Given the description of an element on the screen output the (x, y) to click on. 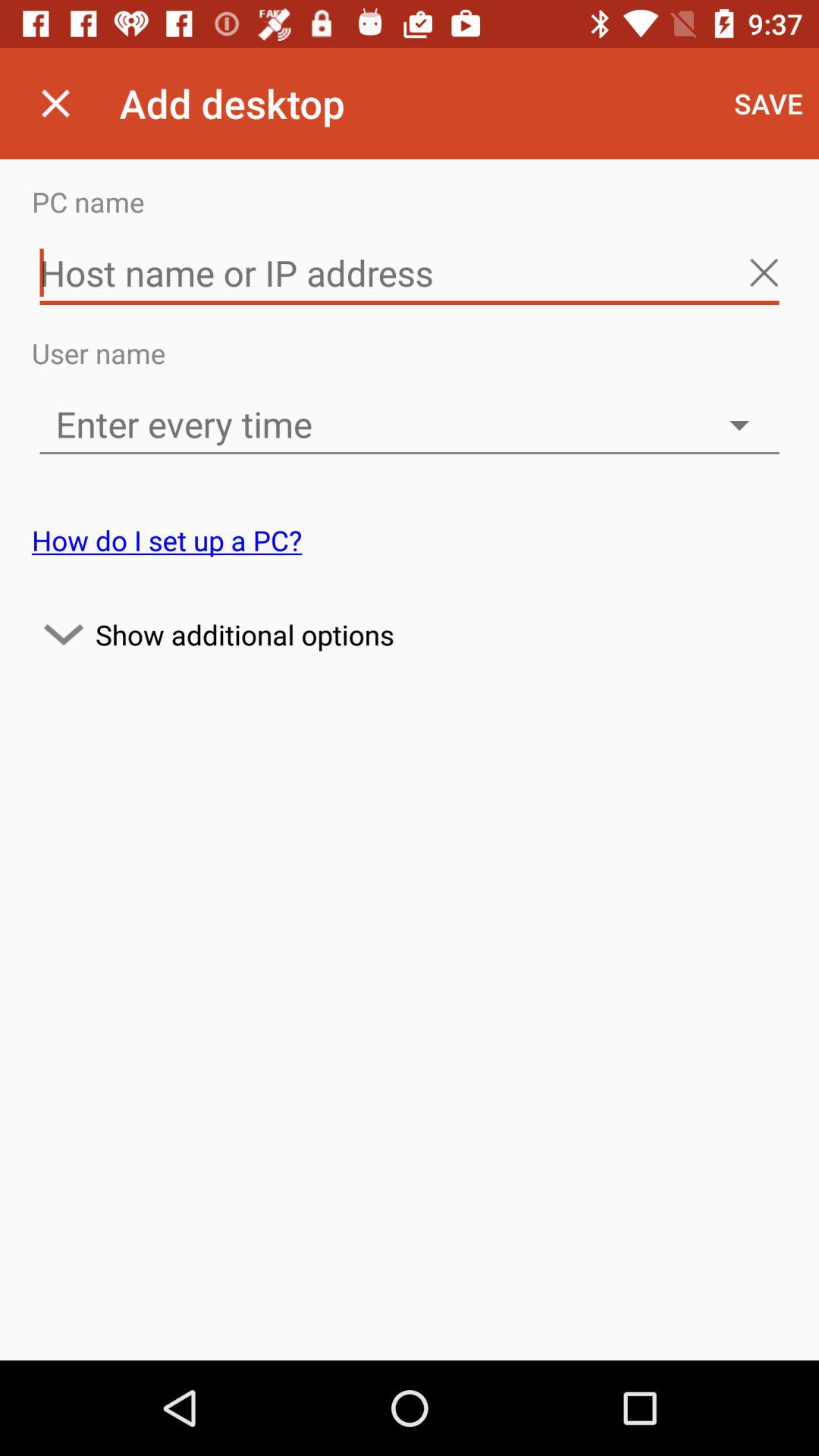
choose the save icon (768, 103)
